Given the description of an element on the screen output the (x, y) to click on. 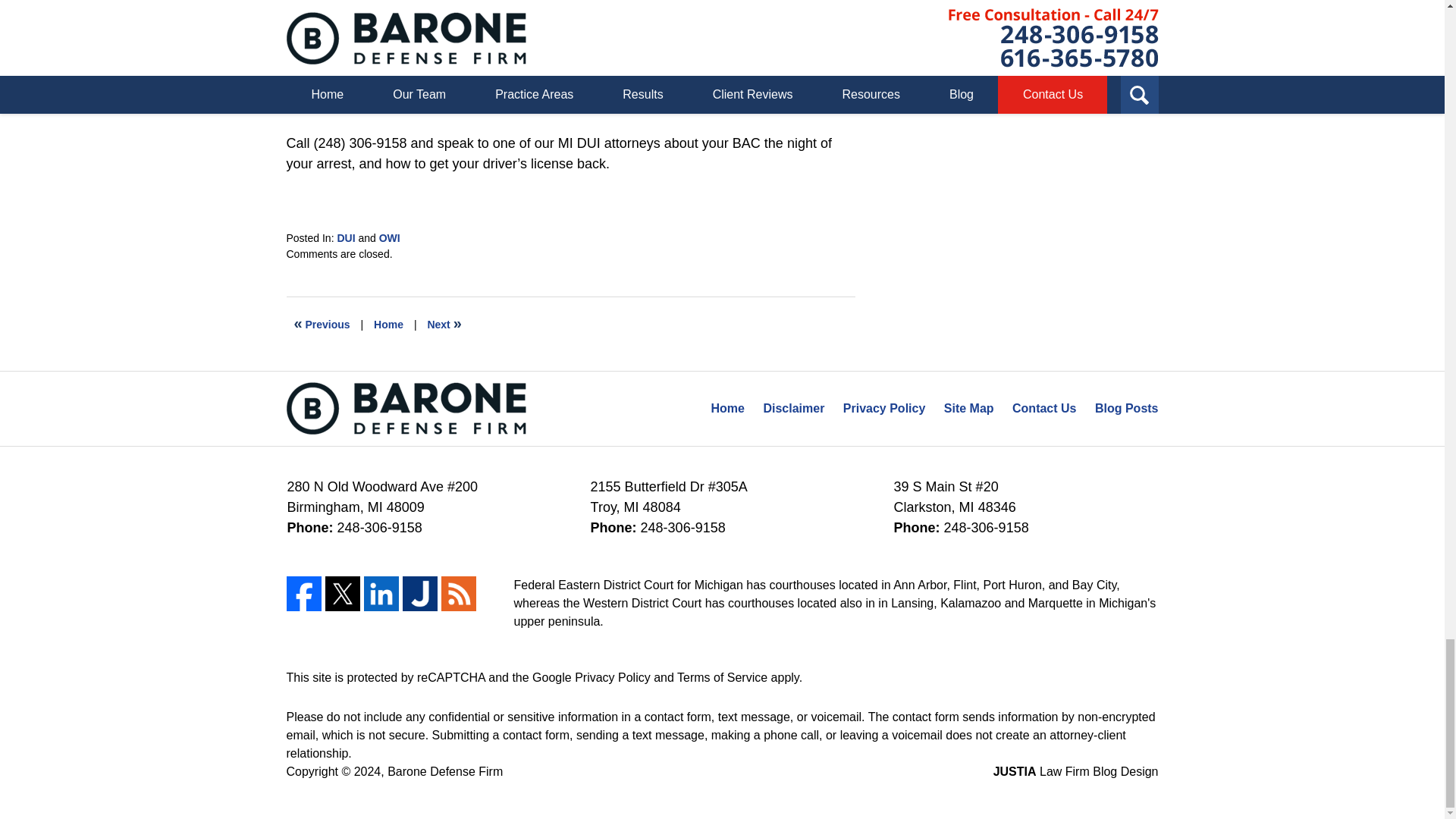
View all posts in OWI (389, 237)
What Is Jury Nullification in Michigan? Is It Legal? (322, 324)
Feed (458, 593)
Twitter (341, 593)
LinkedIn (381, 593)
OUID: Operating under the Influence of Drugs in Michigan (443, 324)
Justia (418, 593)
View all posts in DUI (345, 237)
OWI (389, 237)
DUI (345, 237)
Facebook (303, 593)
